Given the description of an element on the screen output the (x, y) to click on. 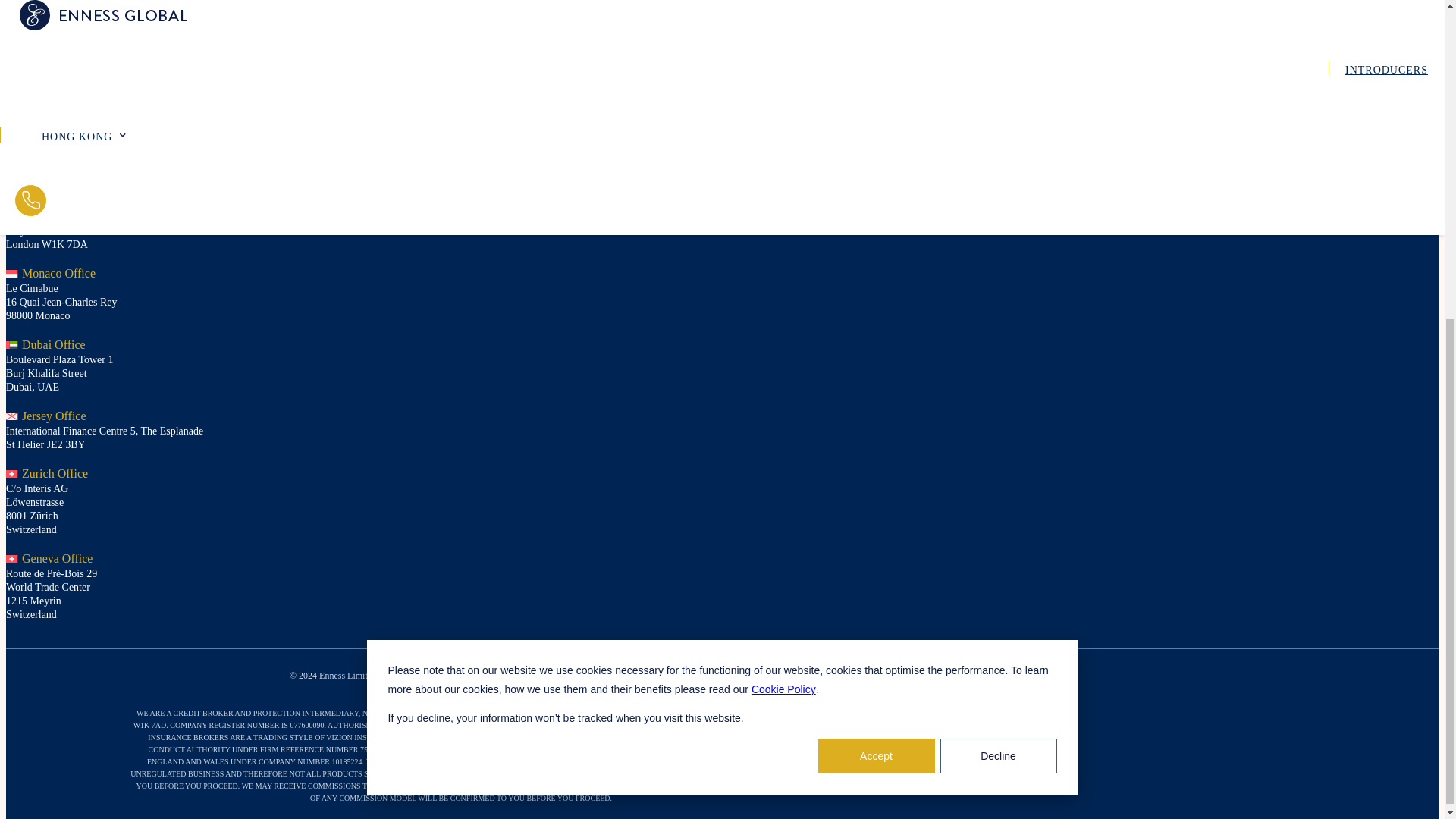
Enness Info (408, 672)
THE FINANCIAL SERVICES REGISTER (568, 761)
Glossary (615, 672)
